Given the description of an element on the screen output the (x, y) to click on. 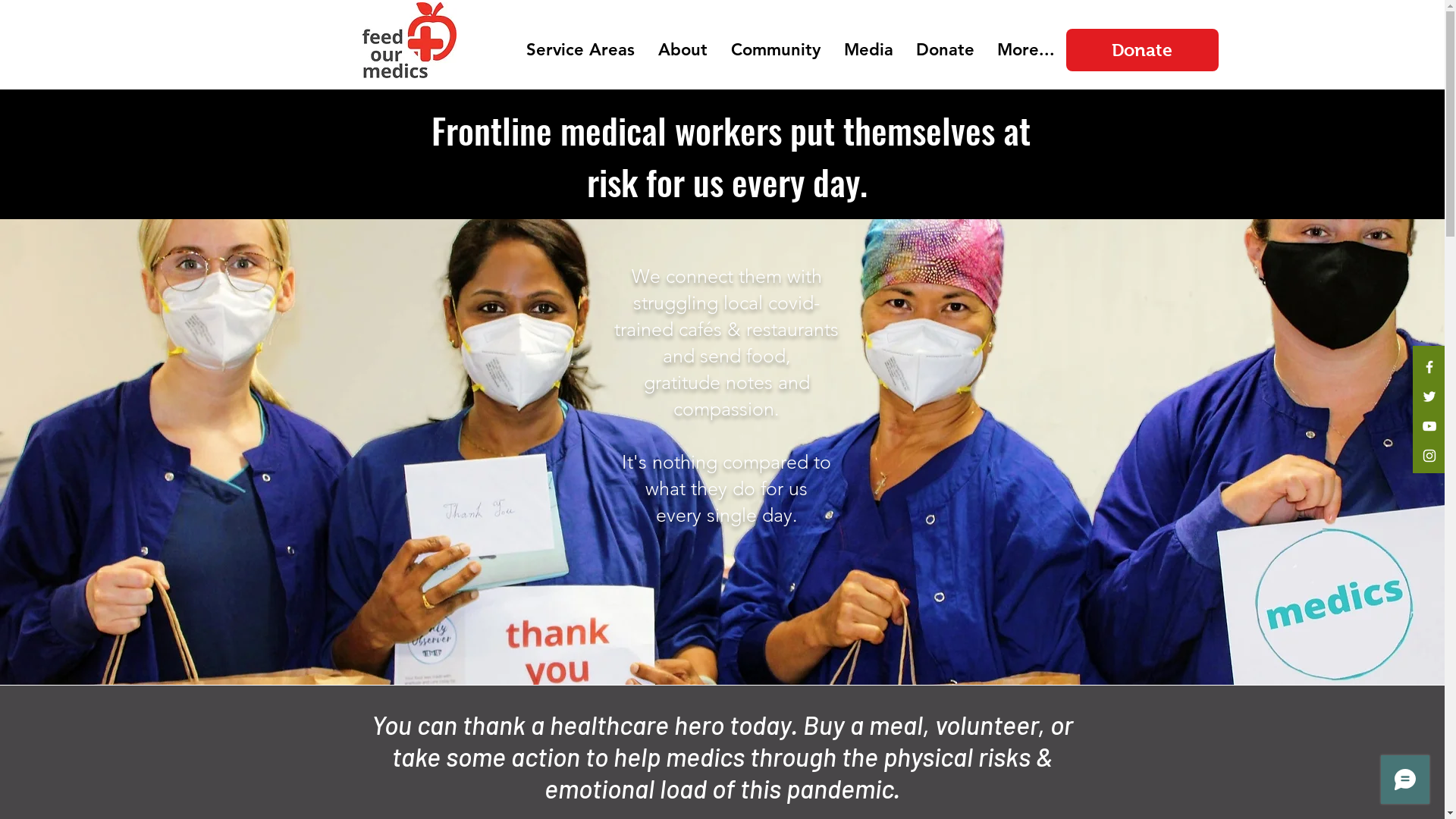
About Element type: text (682, 49)
Media Element type: text (868, 49)
Community Element type: text (774, 49)
Donate Element type: text (944, 49)
Donate Element type: text (1142, 49)
Home Element type: text (479, 49)
Service Areas Element type: text (580, 49)
